Given the description of an element on the screen output the (x, y) to click on. 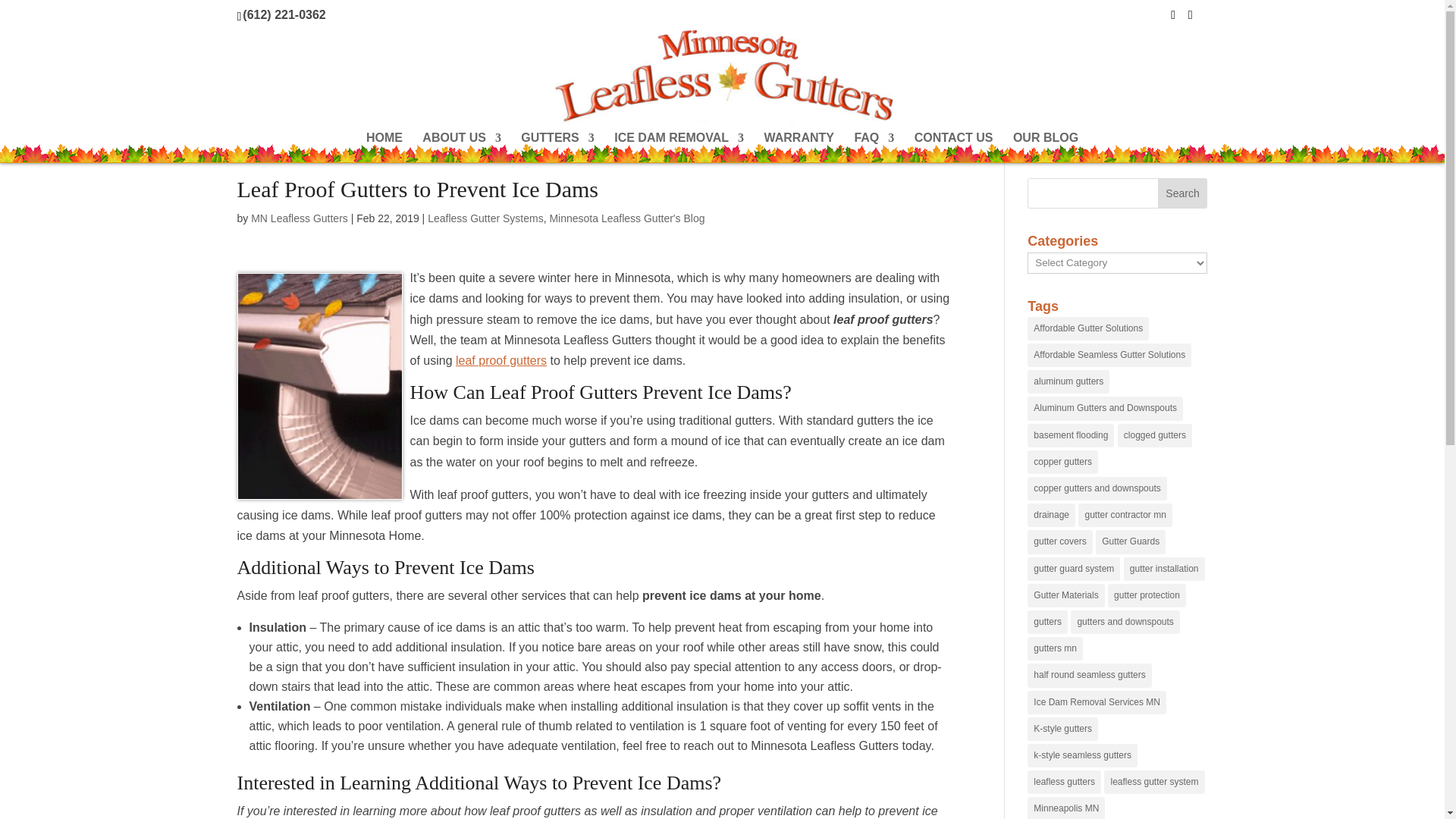
CONTACT US (953, 147)
Aluminum Gutters and Downspouts (1104, 408)
ABOUT US (461, 147)
copper gutters (1062, 462)
gutter contractor mn (1125, 515)
Gutter Guards (1131, 541)
Affordable Seamless Gutter Solutions (1109, 354)
WARRANTY (799, 147)
basement flooding (1070, 435)
Search (1182, 193)
